Given the description of an element on the screen output the (x, y) to click on. 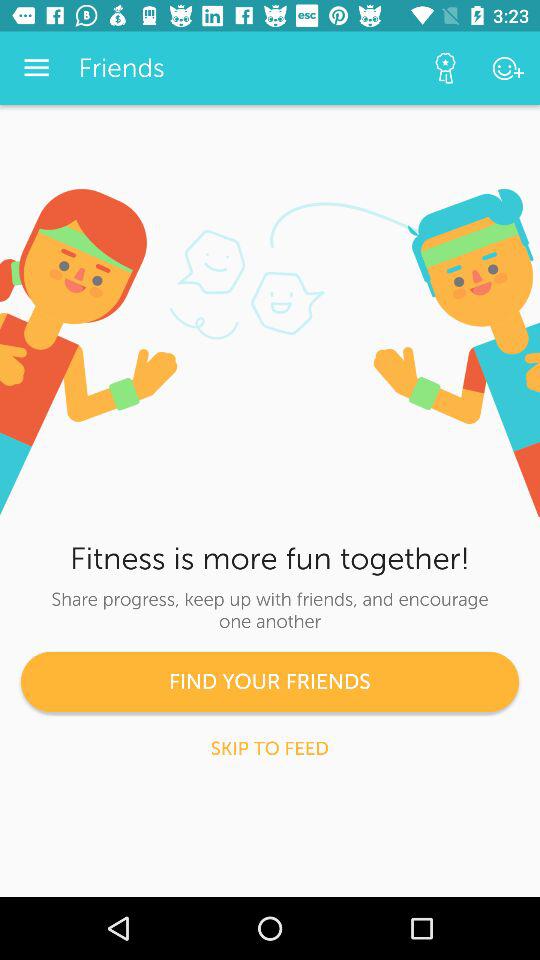
press the find your friends (270, 681)
